Given the description of an element on the screen output the (x, y) to click on. 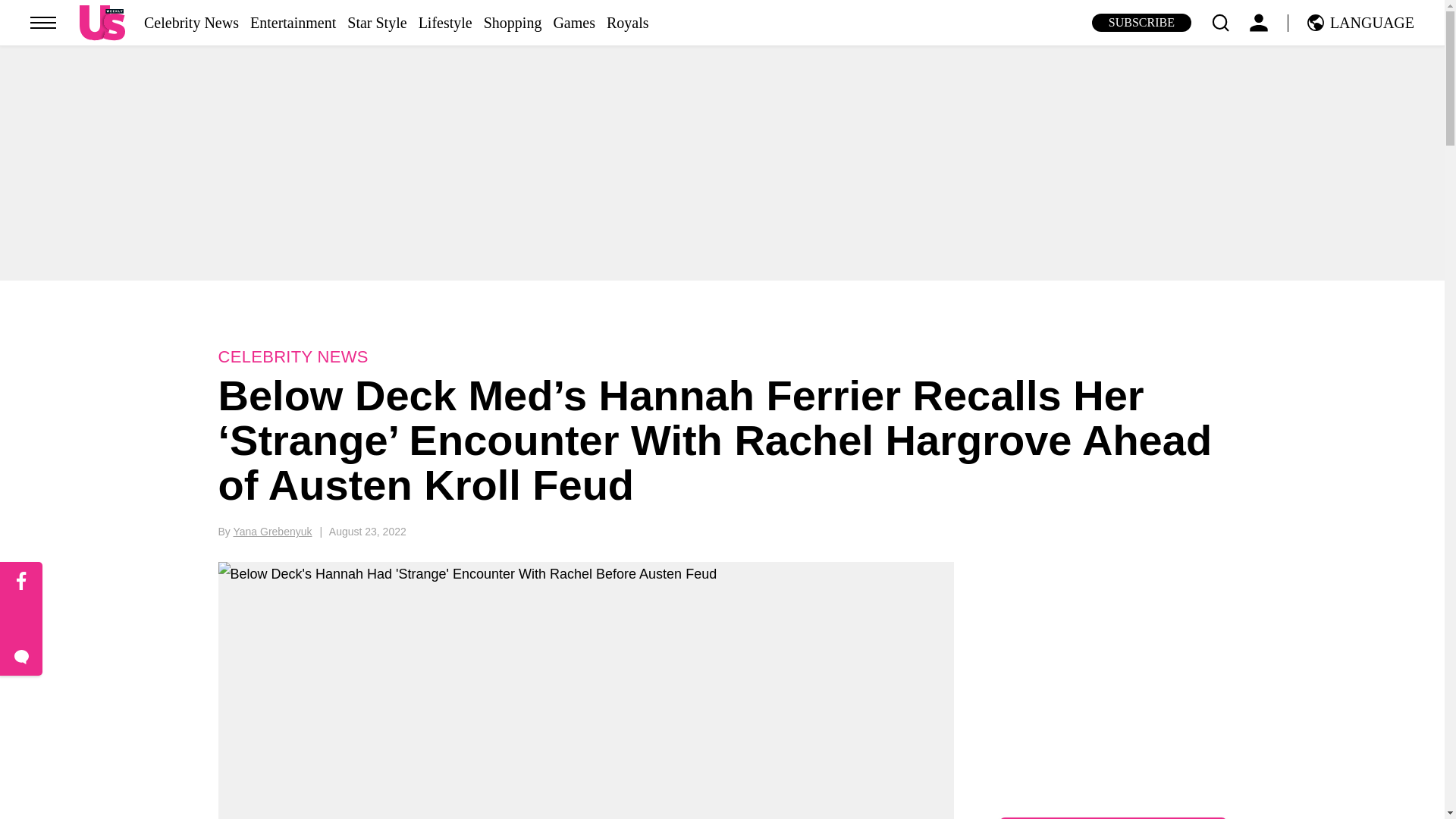
Us Weekly Magazine (102, 22)
Star Style (376, 22)
Entertainment (293, 22)
Celebrity News (191, 22)
Games (574, 22)
Click to share on Facebook (21, 581)
Shopping (512, 22)
Lifestyle (445, 22)
Click to share on Twitter (21, 619)
Posts by Yana Grebenyuk (271, 531)
